Given the description of an element on the screen output the (x, y) to click on. 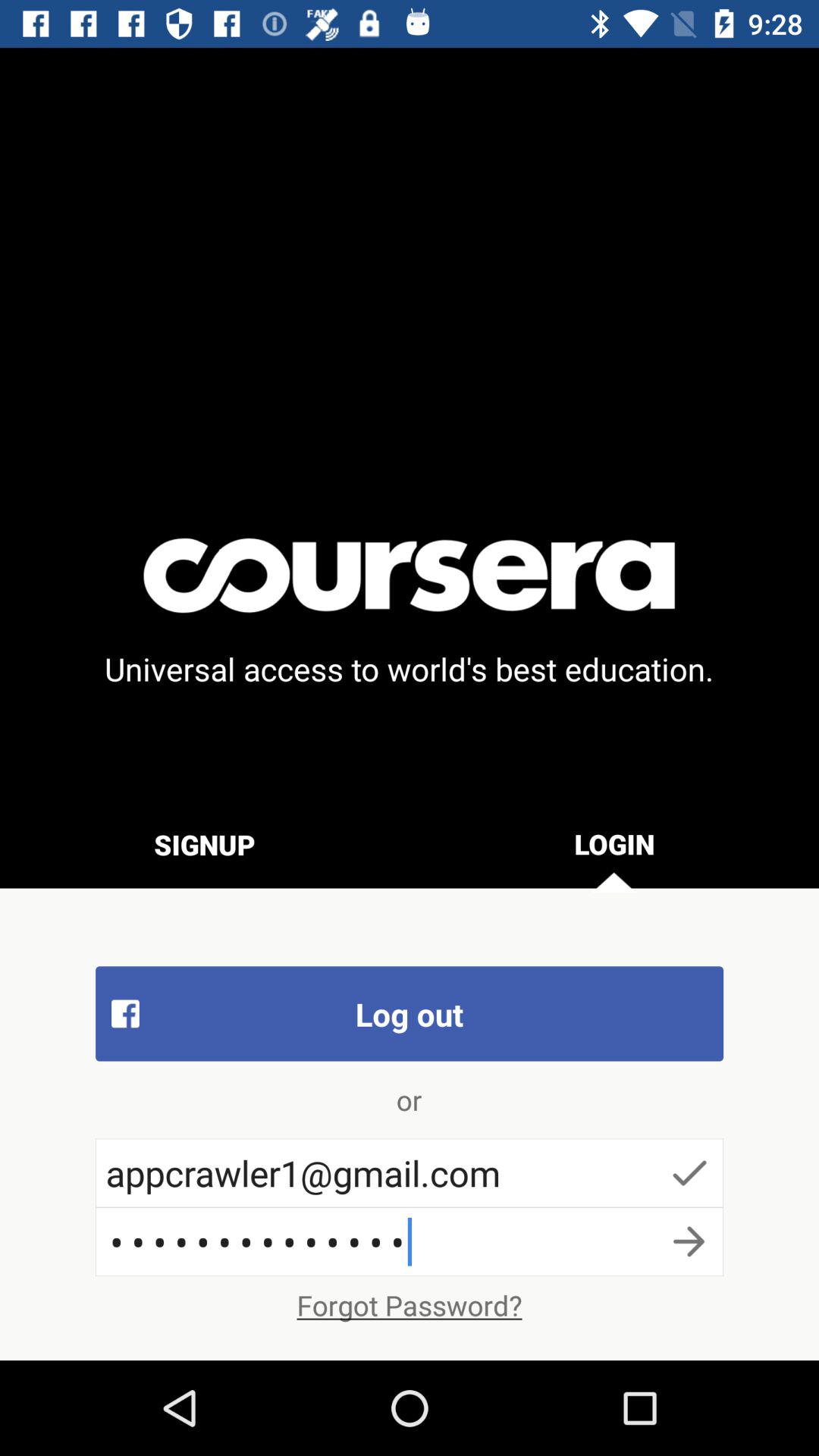
jump to the forgot password? item (409, 1305)
